Given the description of an element on the screen output the (x, y) to click on. 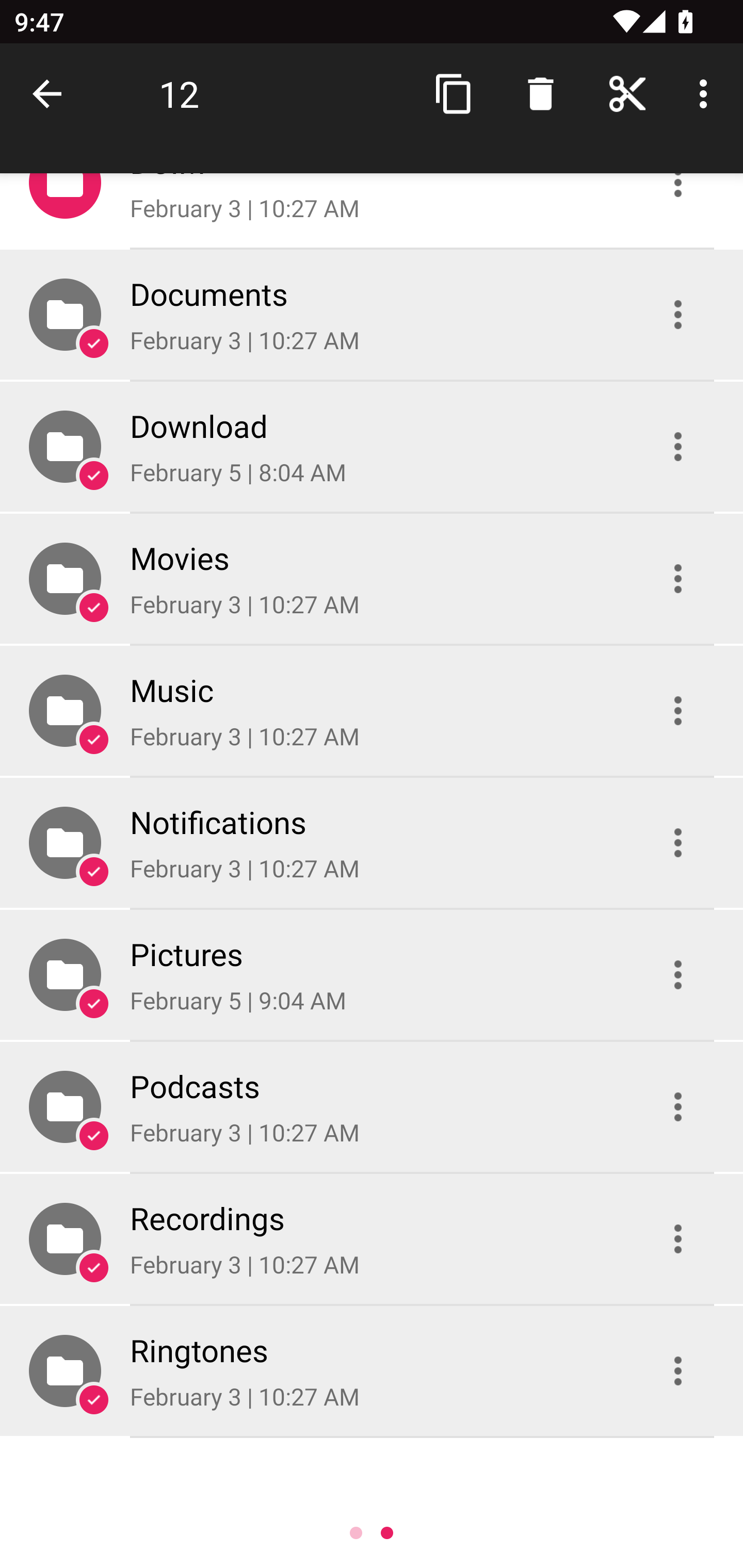
12 (179, 93)
Done (50, 93)
Copy (453, 93)
Delete (540, 93)
Cut (626, 93)
More options (706, 93)
DCIM February 3 | 10:27 AM (371, 210)
Documents February 3 | 10:27 AM (371, 314)
Download February 5 | 8:04 AM (371, 446)
Movies February 3 | 10:27 AM (371, 579)
Music February 3 | 10:27 AM (371, 711)
Notifications February 3 | 10:27 AM (371, 842)
Pictures February 5 | 9:04 AM (371, 974)
Podcasts February 3 | 10:27 AM (371, 1106)
Recordings February 3 | 10:27 AM (371, 1239)
Ringtones February 3 | 10:27 AM (371, 1371)
